Given the description of an element on the screen output the (x, y) to click on. 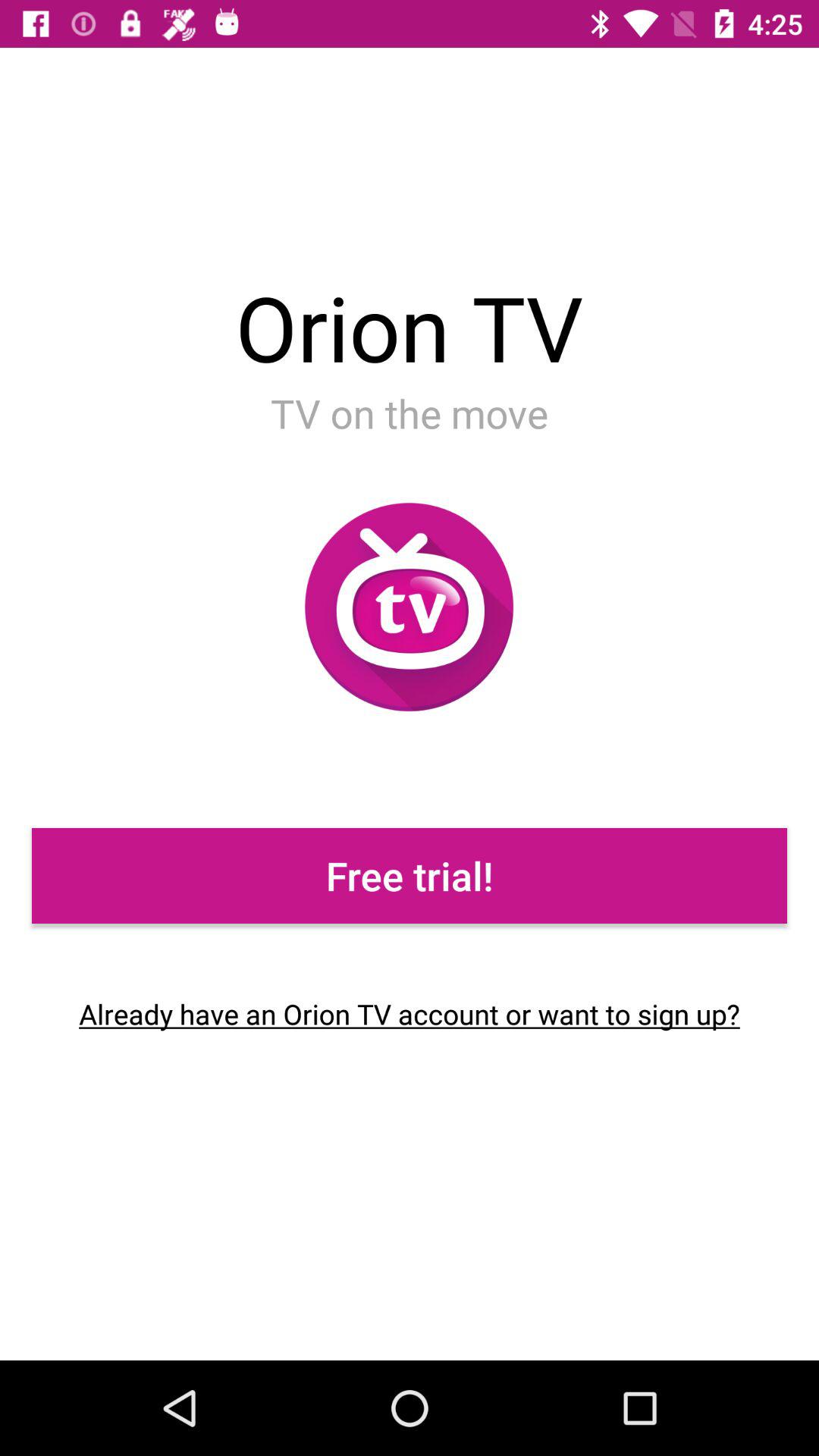
select the already have an item (409, 1013)
